Given the description of an element on the screen output the (x, y) to click on. 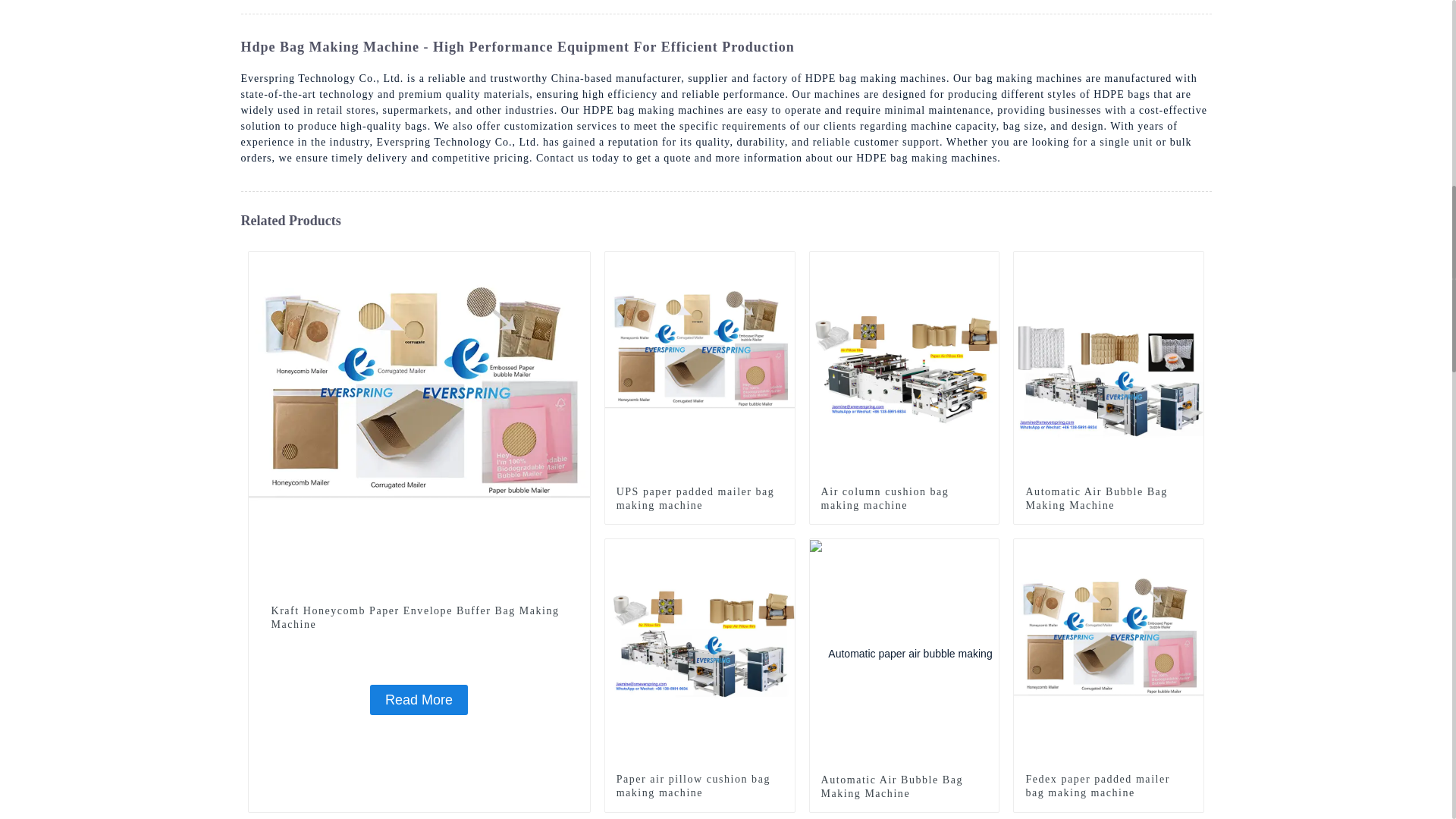
Automatic Air Bubble Bag Making Machine (904, 786)
Read More (418, 699)
Automatic paper air bubble making machine (986, 549)
Air column cushion bag making machine (904, 498)
UPS paper padded mailer bag making machine (699, 365)
Automatic Air Bubble Bag Making Machine (1108, 498)
Automatic Air Bubble Bag Making Machine (903, 653)
Kraft Honeycomb Paper Envelope Buffer Bag Making Machine (418, 699)
Kraft Honeycomb Paper Envelope Buffer Bag Making Machine (418, 421)
Kraft Honeycomb Paper Envelope Buffer Bag Making Machine (418, 617)
Compostable bags (578, 262)
Air bubble film making machine (1192, 262)
Paper air pillow cushion bag making machine (699, 786)
Automatic Paper air pillow making machine (782, 549)
Compostable bags (782, 262)
